Given the description of an element on the screen output the (x, y) to click on. 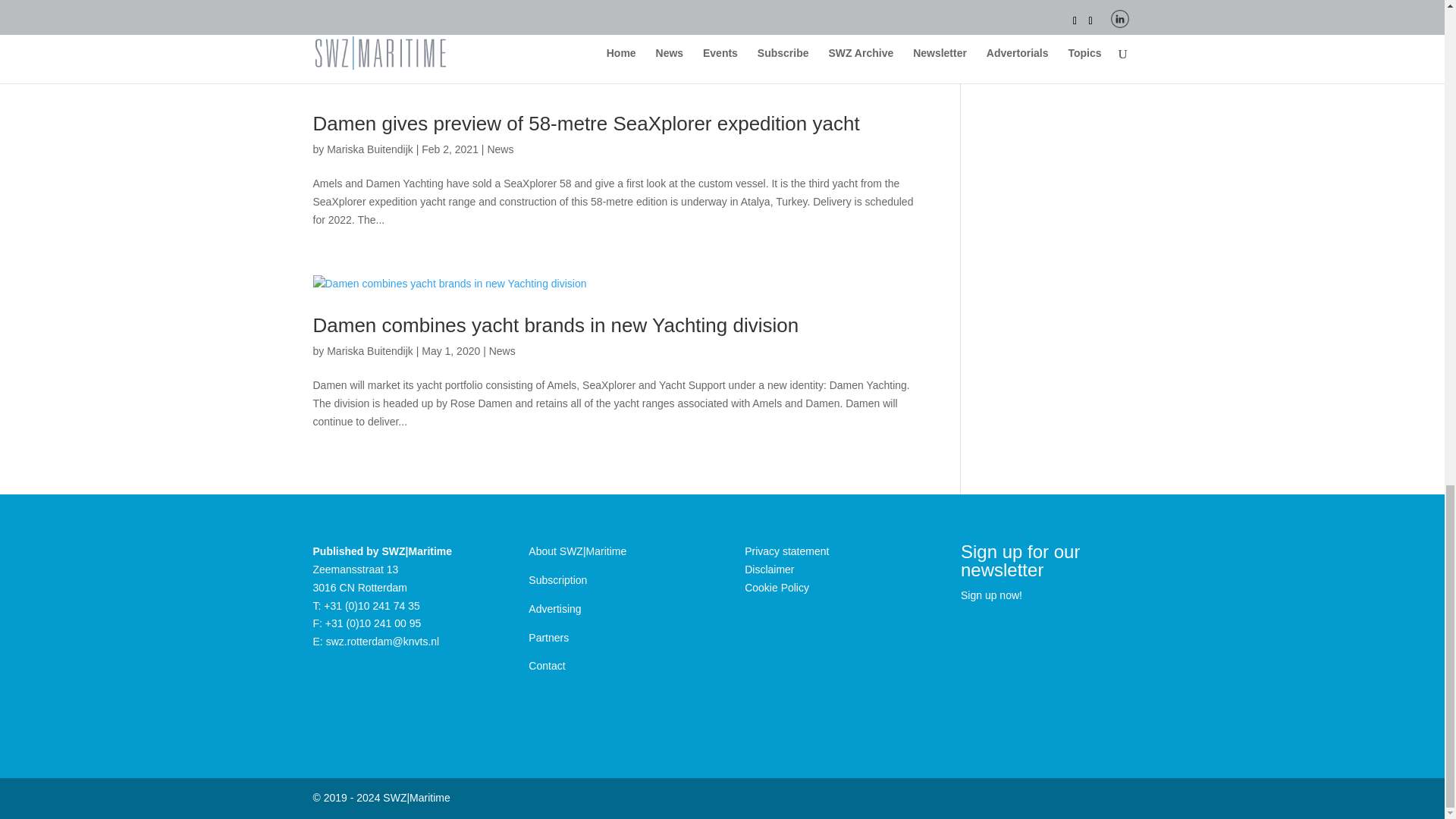
Mariska Buitendijk (369, 350)
News (502, 350)
Mariska Buitendijk (369, 149)
Posts by Mariska Buitendijk (369, 350)
News (499, 149)
Damen gives preview of 58-metre SeaXplorer expedition yacht (586, 123)
Partners (548, 637)
Posts by Mariska Buitendijk (369, 149)
Damen combines yacht brands in new Yachting division (555, 324)
Subscription (557, 580)
